Given the description of an element on the screen output the (x, y) to click on. 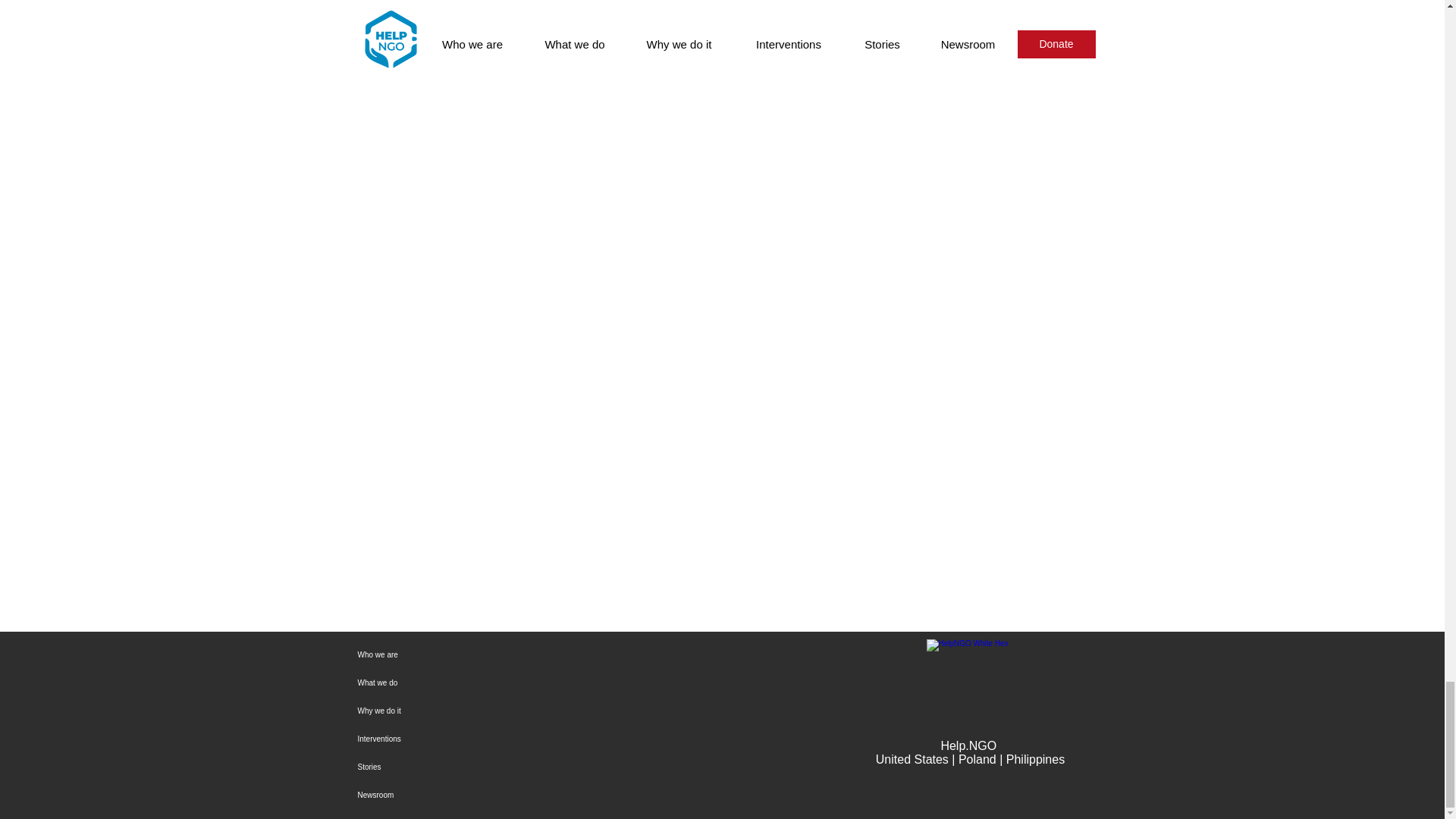
Who we are (495, 654)
Stories (495, 766)
What we do (495, 682)
Newsroom (495, 795)
Why we do it (495, 710)
Interventions (495, 738)
